Given the description of an element on the screen output the (x, y) to click on. 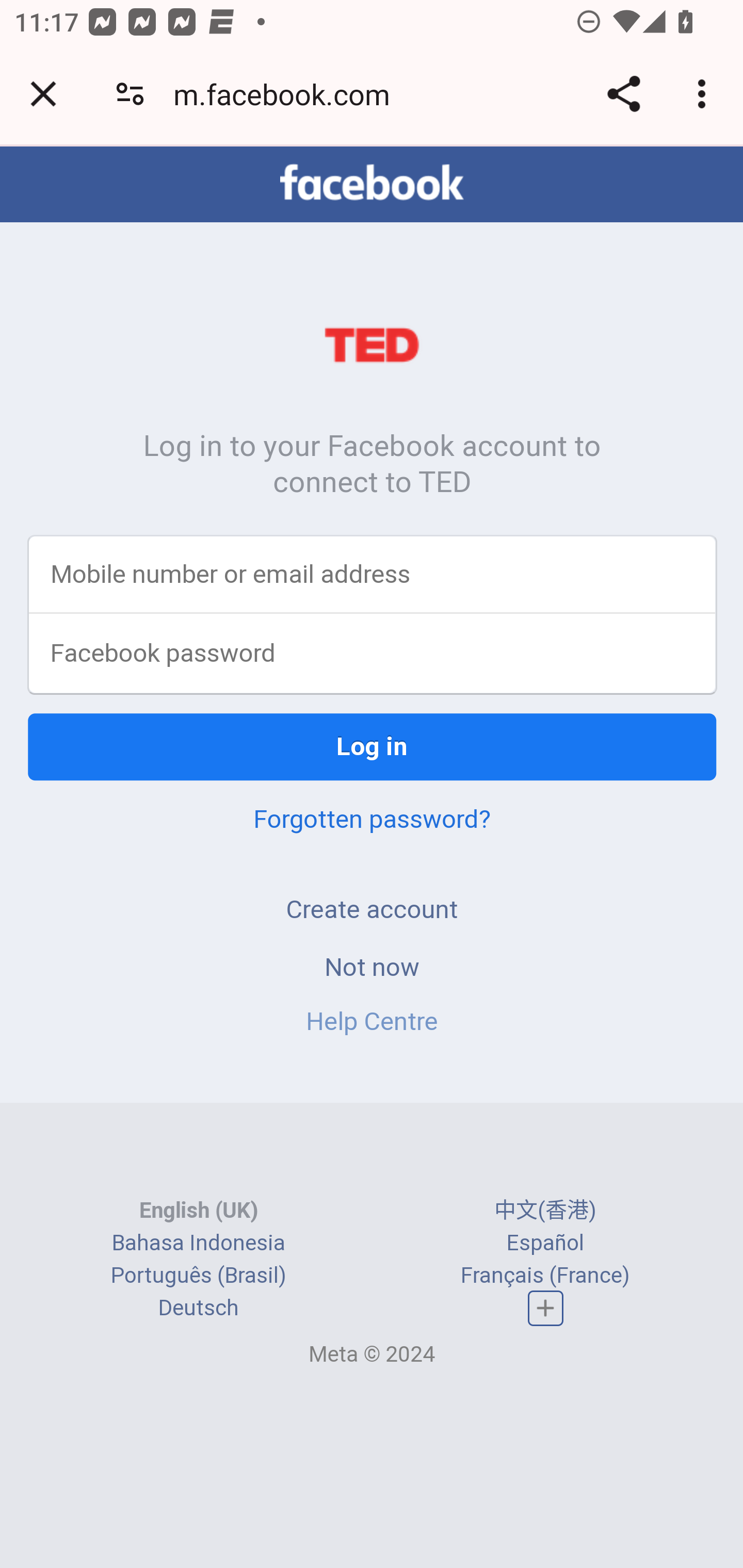
Close tab (43, 93)
Share (623, 93)
Customize and control Google Chrome (705, 93)
Connection is secure (129, 93)
m.facebook.com (288, 93)
facebook (371, 183)
Log in (372, 747)
Forgotten password? (371, 819)
Create account (371, 910)
Not now (371, 968)
Help Centre (371, 1022)
中文(香港) (544, 1211)
Bahasa Indonesia (198, 1243)
Español (545, 1243)
Português (Brasil) (197, 1276)
Français (France) (544, 1276)
Complete list of languages (545, 1309)
Deutsch (197, 1309)
